Given the description of an element on the screen output the (x, y) to click on. 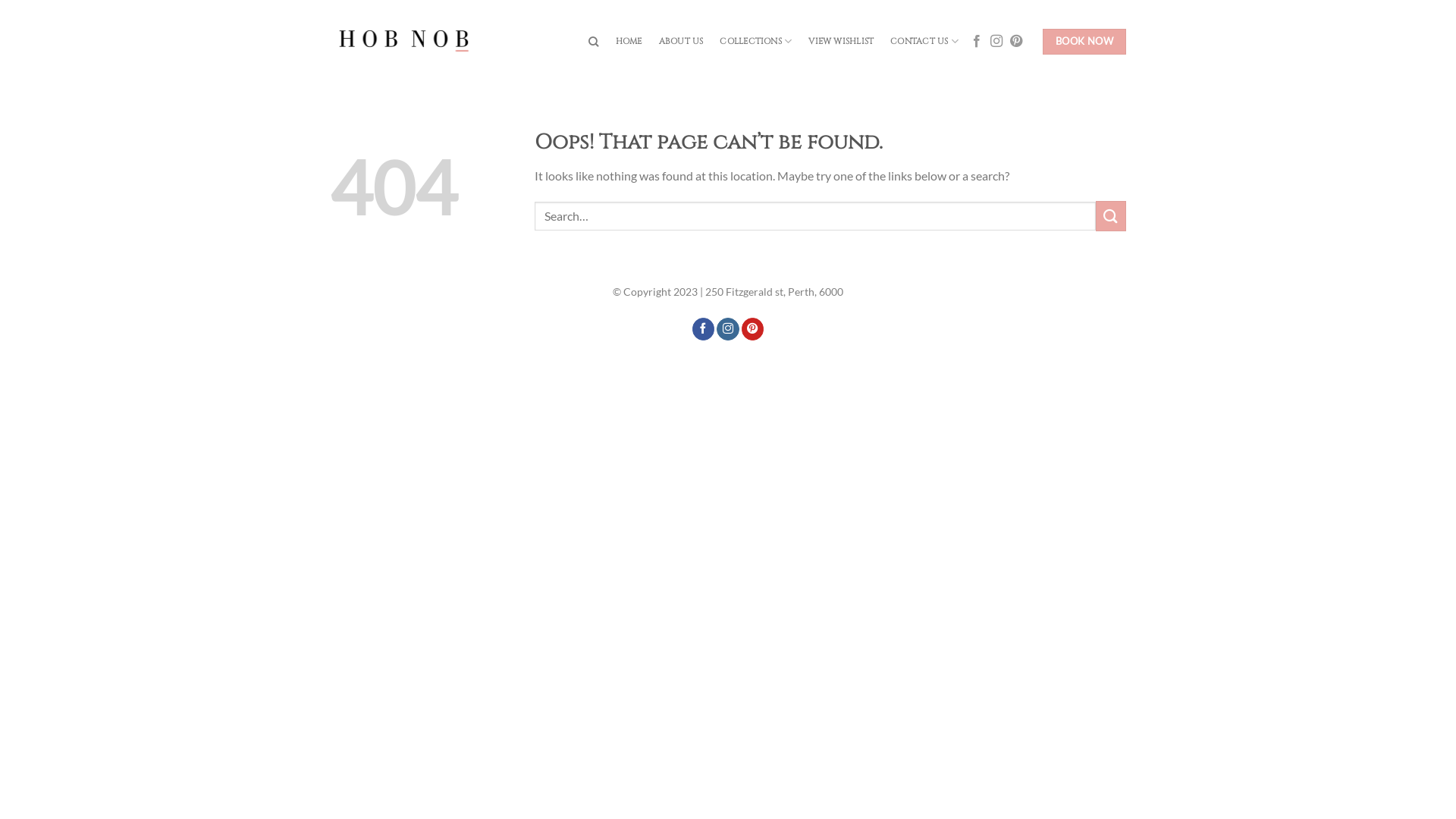
Skip to content Element type: text (0, 0)
VIEW WISHLIST Element type: text (840, 41)
COLLECTIONS Element type: text (755, 41)
HOME Element type: text (628, 41)
ABOUT US Element type: text (680, 41)
BOOK NOW Element type: text (1084, 41)
CONTACT US Element type: text (924, 41)
